Given the description of an element on the screen output the (x, y) to click on. 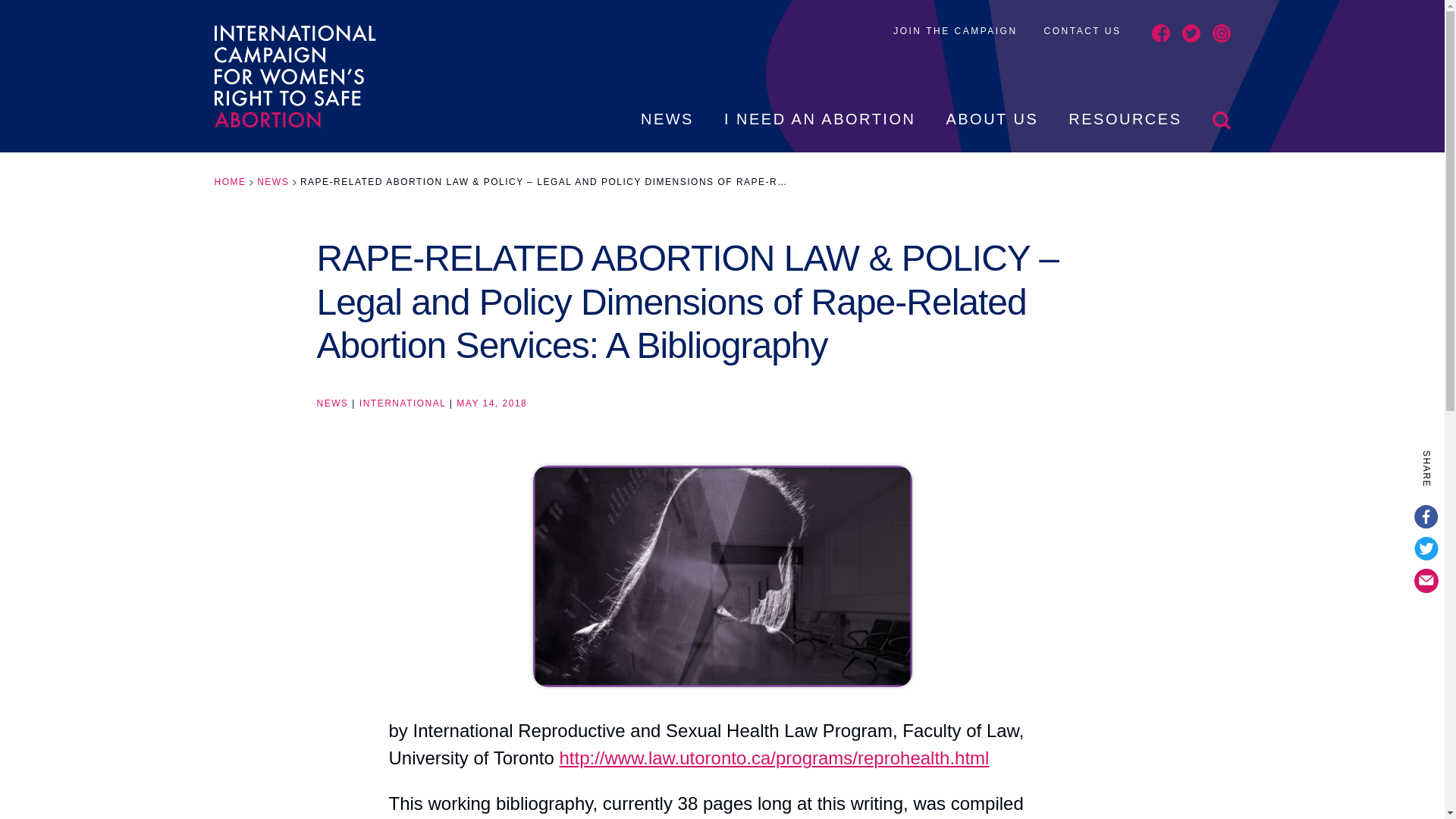
Share to Facebook (1425, 517)
I NEED AN ABORTION (819, 131)
JOIN THE CAMPAIGN (954, 30)
RESOURCES (1124, 131)
CONTACT US (1082, 30)
Share to Email (1425, 580)
NEWS (667, 131)
HOME (230, 181)
ABOUT US (991, 131)
NEWS (272, 181)
